Given the description of an element on the screen output the (x, y) to click on. 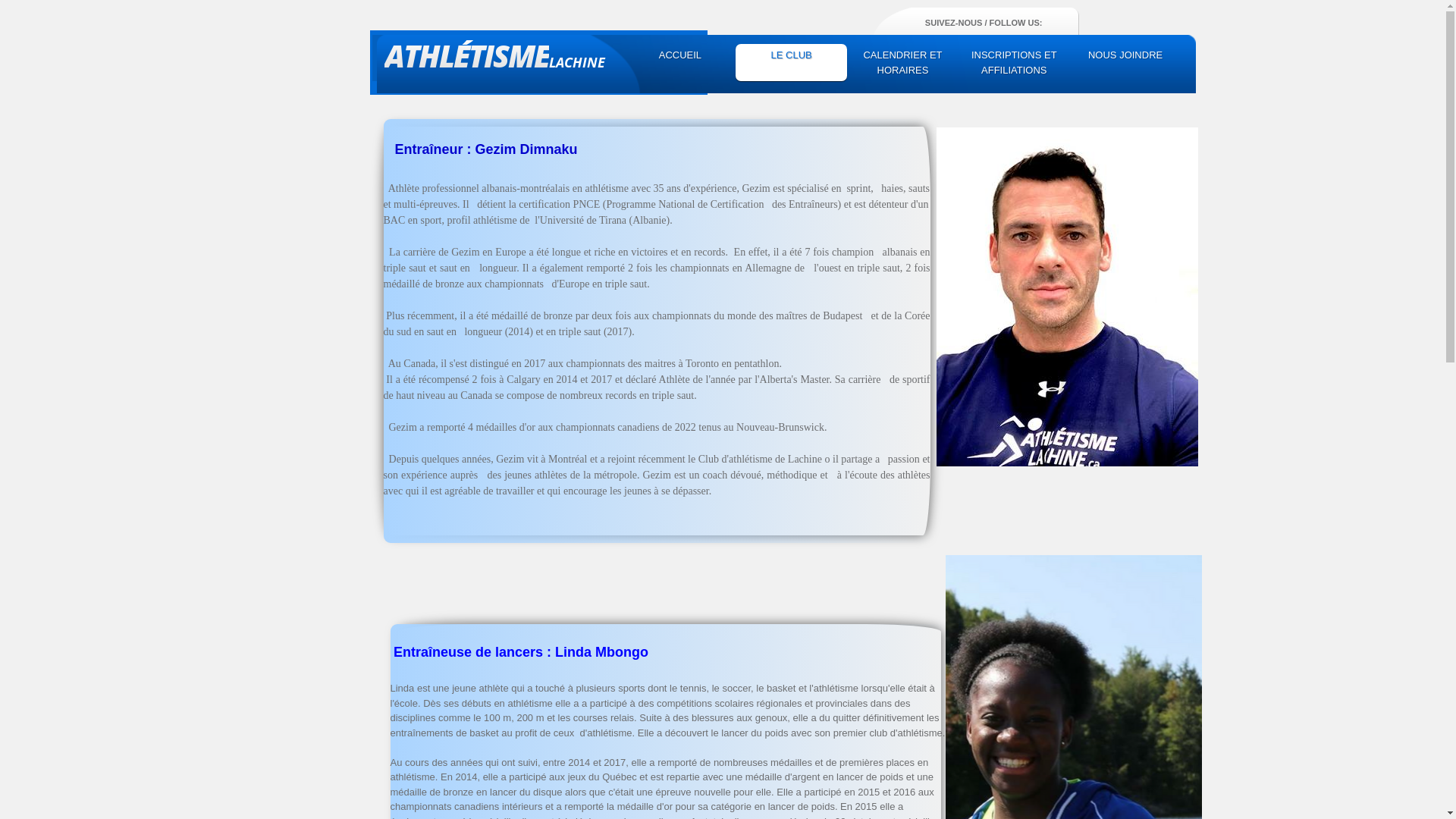
LE CLUB Element type: text (791, 54)
CALENDRIER ET HORAIRES Element type: text (902, 62)
ACCUEIL Element type: text (680, 54)
INSCRIPTIONS ET AFFILIATIONS Element type: text (1014, 62)
NOUS JOINDRE Element type: text (1125, 54)
